Given the description of an element on the screen output the (x, y) to click on. 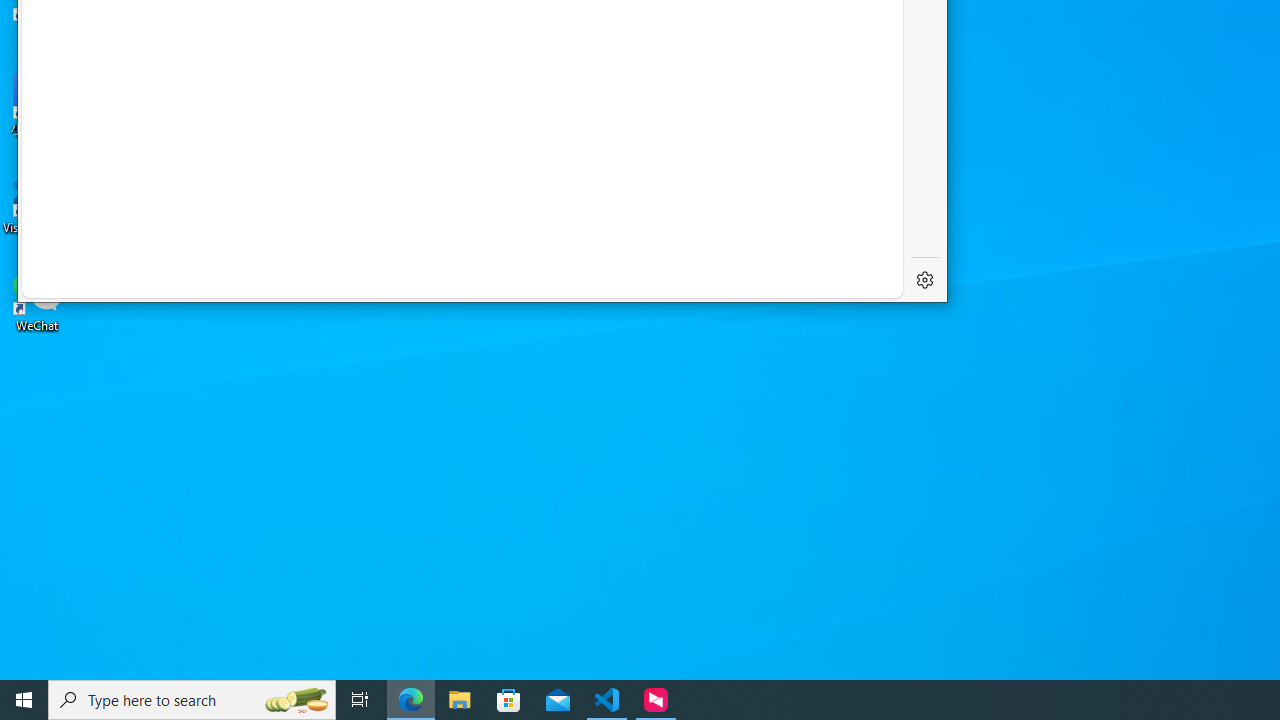
Microsoft Edge - 1 running window (411, 699)
File Explorer (460, 699)
Microsoft Store (509, 699)
Start (24, 699)
Task View (359, 699)
Search highlights icon opens search home window (295, 699)
Visual Studio Code - 1 running window (607, 699)
Type here to search (191, 699)
